Given the description of an element on the screen output the (x, y) to click on. 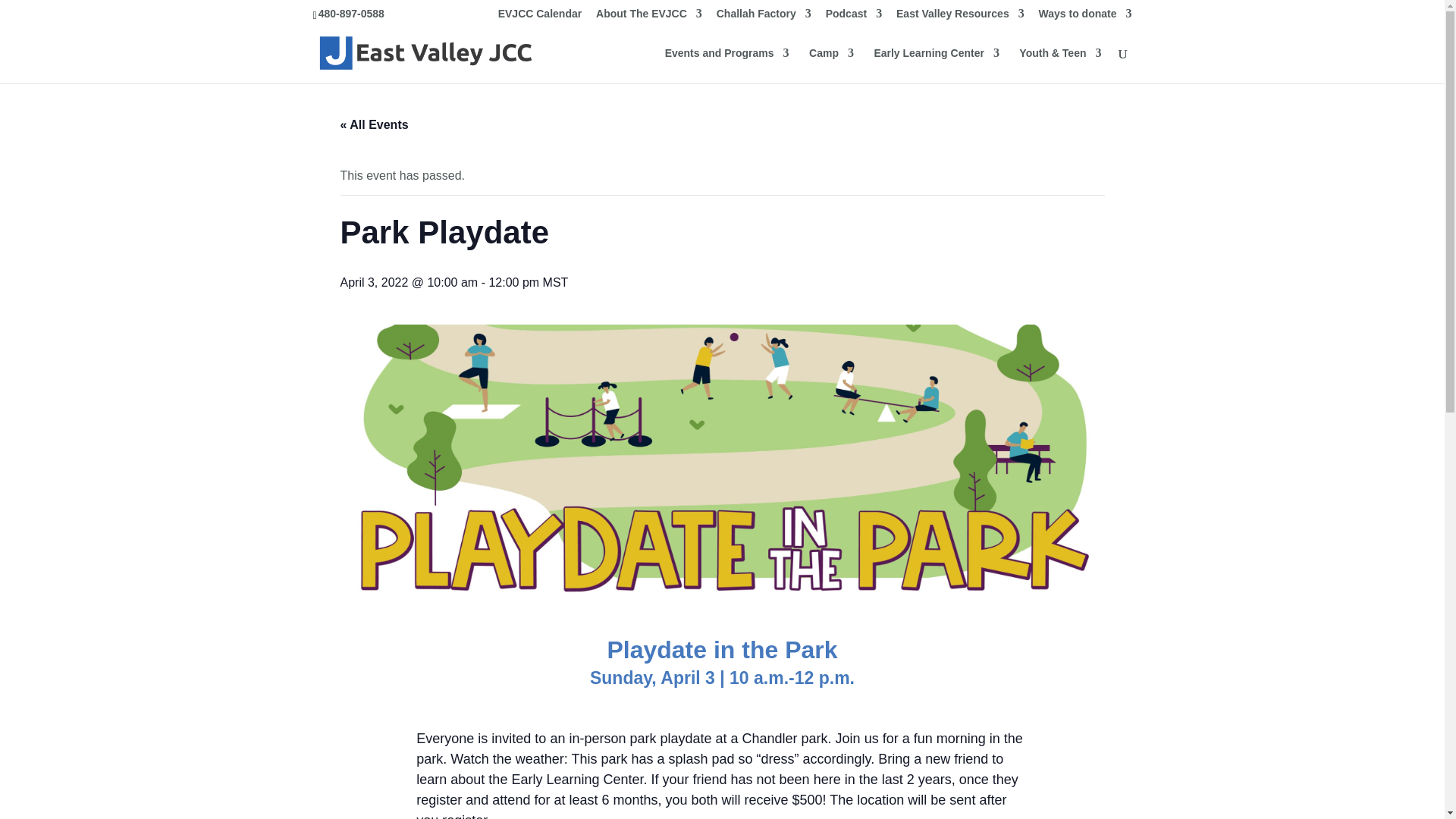
Challah Factory (763, 16)
Ways to donate (1085, 16)
East Valley Resources (960, 16)
EVJCC Calendar (538, 16)
About The EVJCC (648, 16)
Podcast (853, 16)
Events and Programs (727, 65)
